Given the description of an element on the screen output the (x, y) to click on. 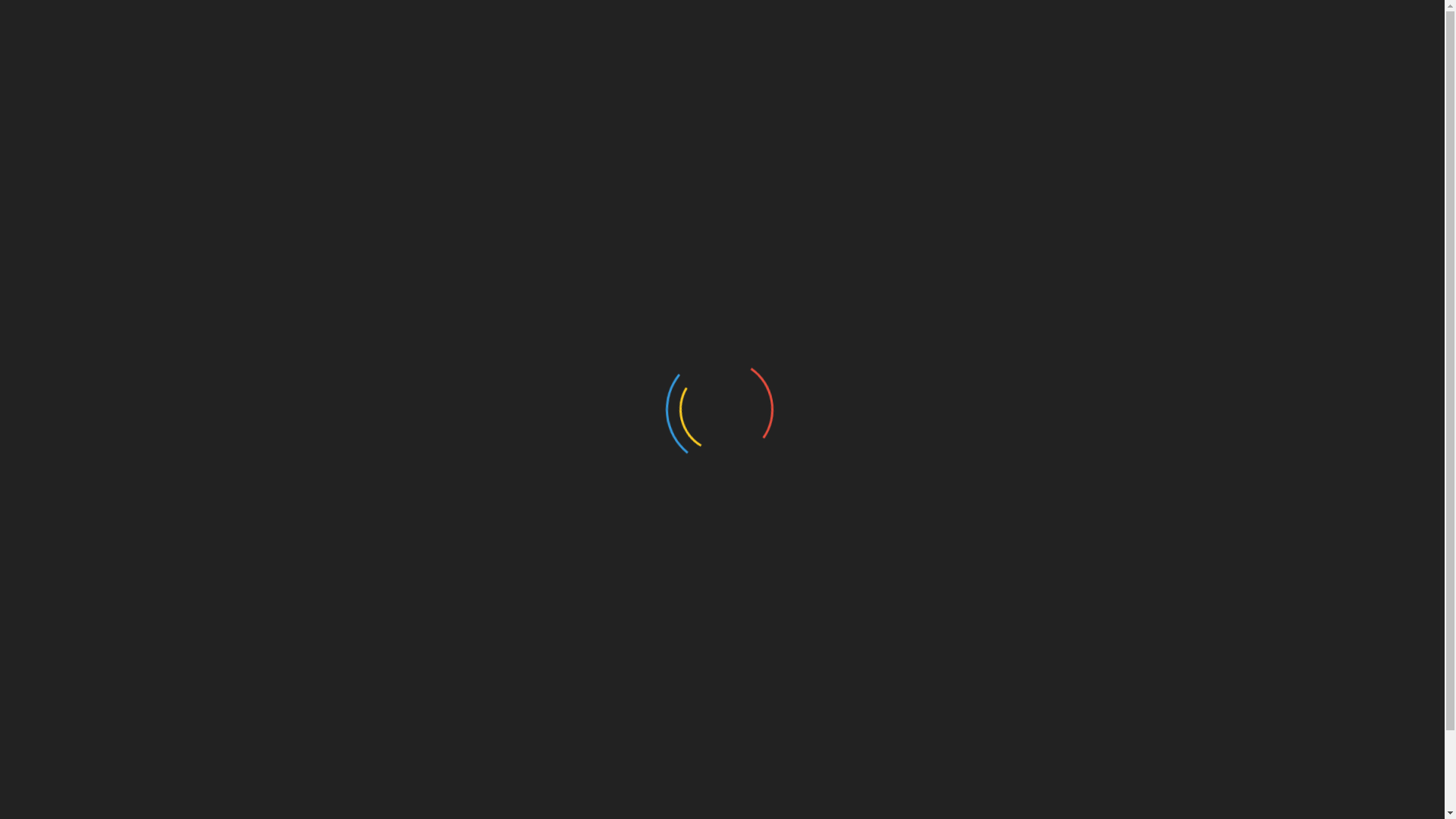
Facebook Element type: text (244, 723)
your dashboard Element type: text (500, 622)
February 2023 Element type: text (1009, 568)
Uncategorized Element type: text (1009, 660)
Quilting The Rag Quilt Element type: text (1029, 383)
Search Element type: text (1152, 267)
Sample Page Element type: text (262, 172)
Comparing the two most popular GoPro cameras Element type: text (1106, 362)
Twitter Element type: text (322, 723)
1STCOASTGRIDIRION Element type: text (326, 86)
Linkedin Element type: text (476, 723)
Pinterest Element type: text (397, 723)
